Given the description of an element on the screen output the (x, y) to click on. 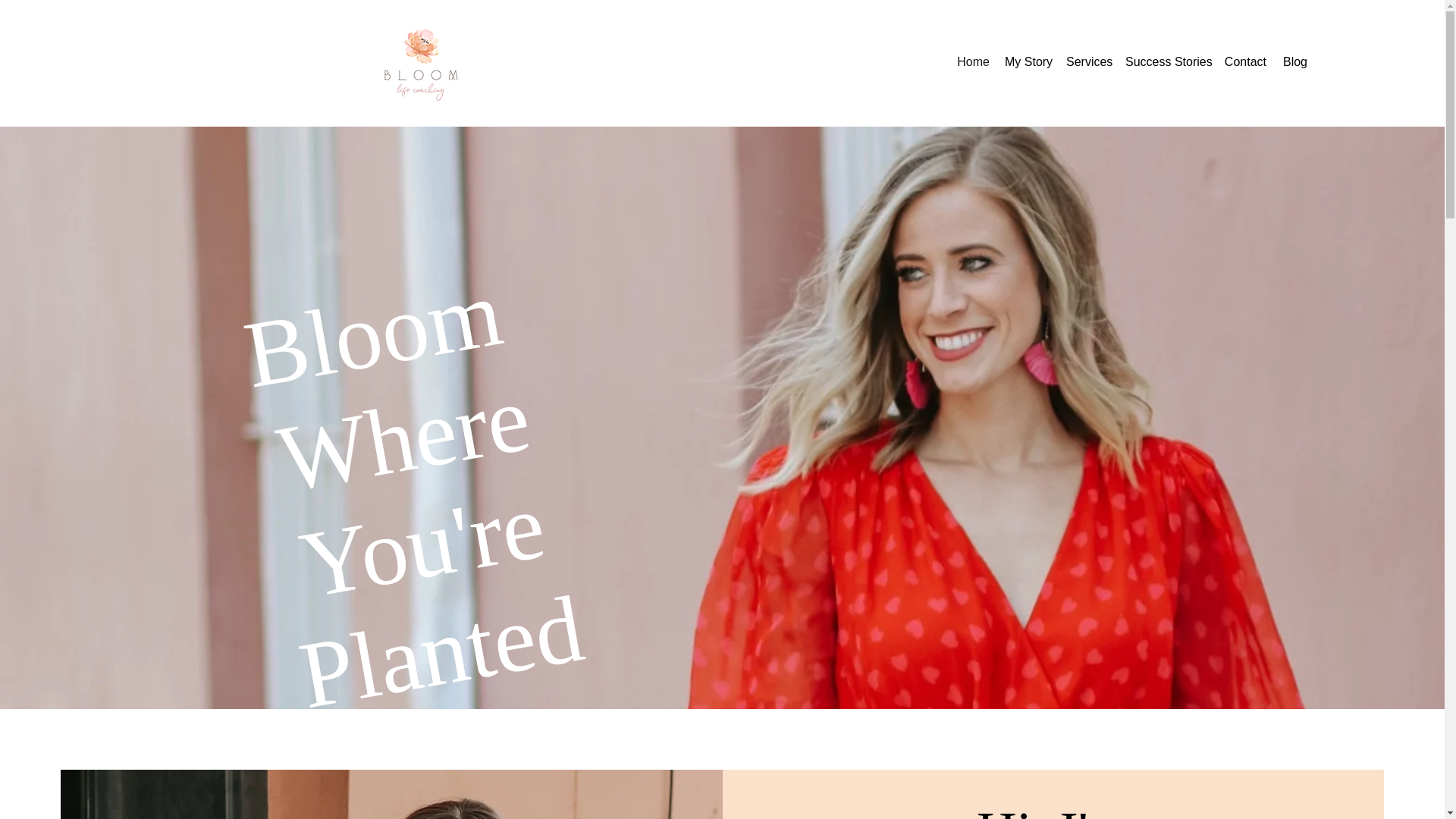
Blog (1294, 61)
Home (972, 61)
Success Stories (1166, 61)
My Story (1027, 61)
Services (1088, 61)
Contact (1244, 61)
